Given the description of an element on the screen output the (x, y) to click on. 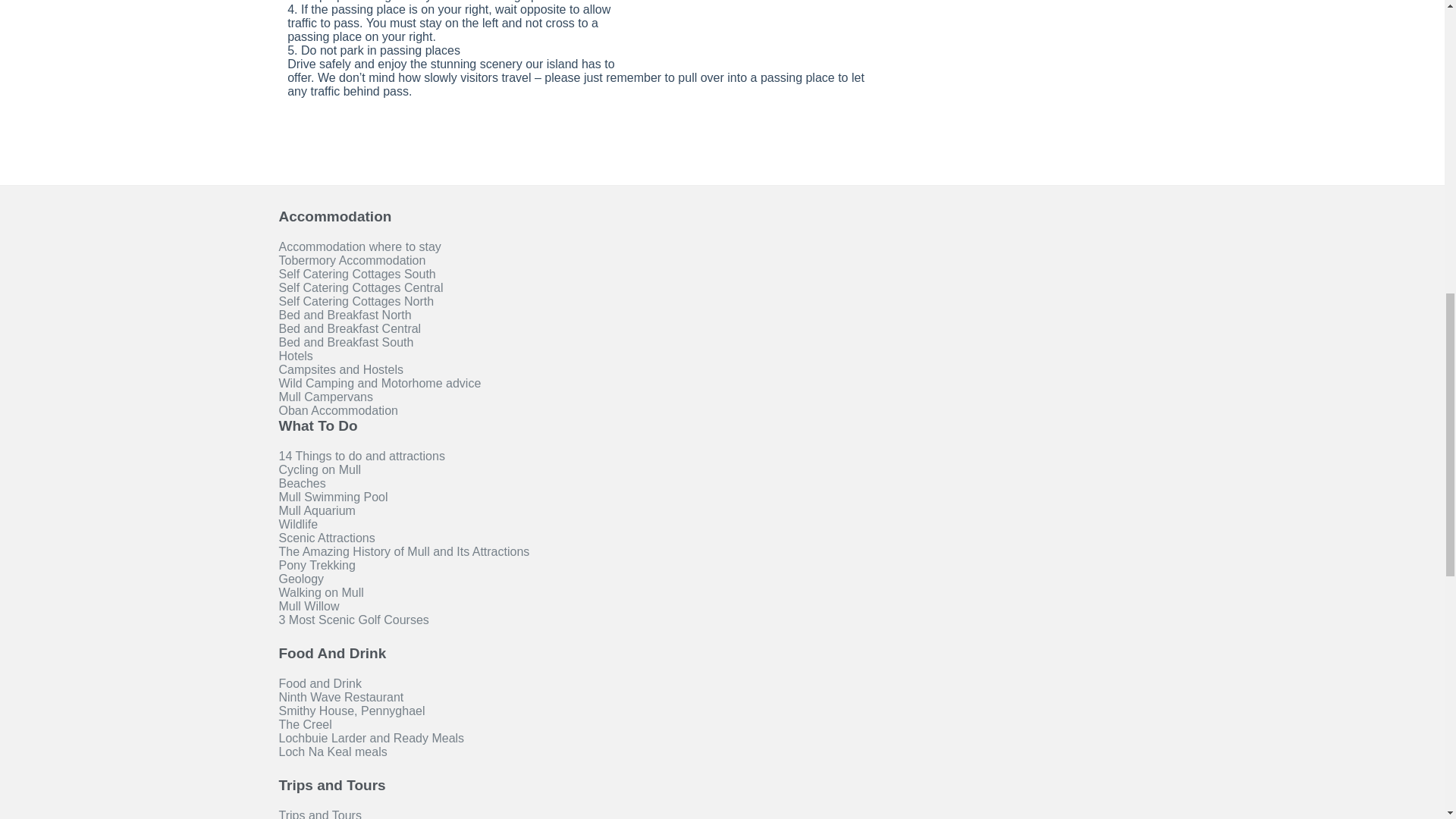
Bed and Breakfast South (346, 341)
Hotels (296, 355)
Accommodation where to stay (360, 246)
Bed and Breakfast North (345, 314)
Wildlife (298, 524)
Single track road (756, 29)
Mull Swimming Pool (333, 497)
14 Things to do and attractions (362, 456)
Mull Campervans (325, 396)
Scenic Attractions (327, 538)
